Given the description of an element on the screen output the (x, y) to click on. 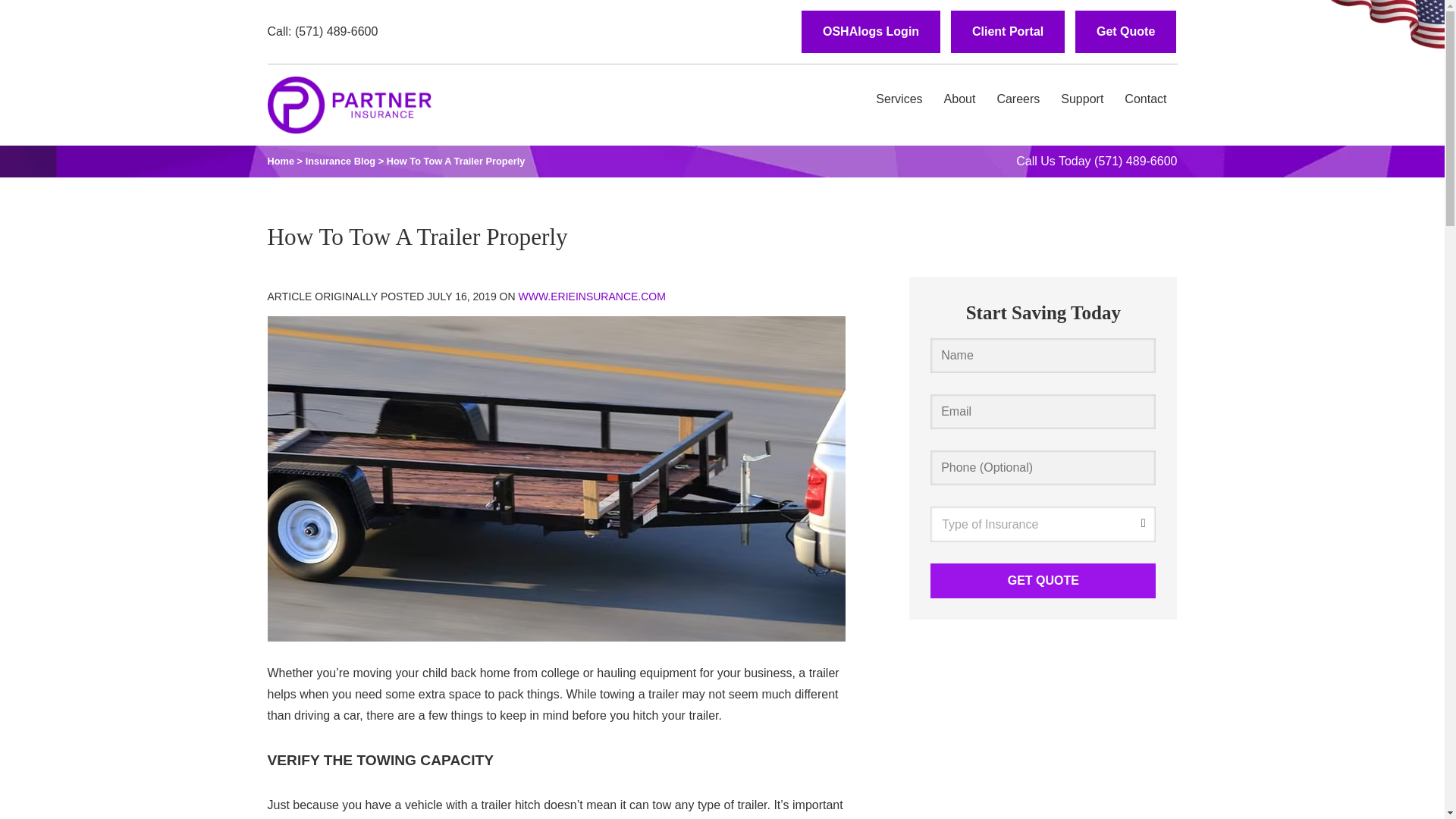
Home Page (349, 99)
About (960, 98)
Services (898, 98)
Get Quote (1125, 31)
Support (1081, 98)
Get Quote (1043, 580)
Careers (1017, 98)
Partner Insurance Logo (349, 105)
